Given the description of an element on the screen output the (x, y) to click on. 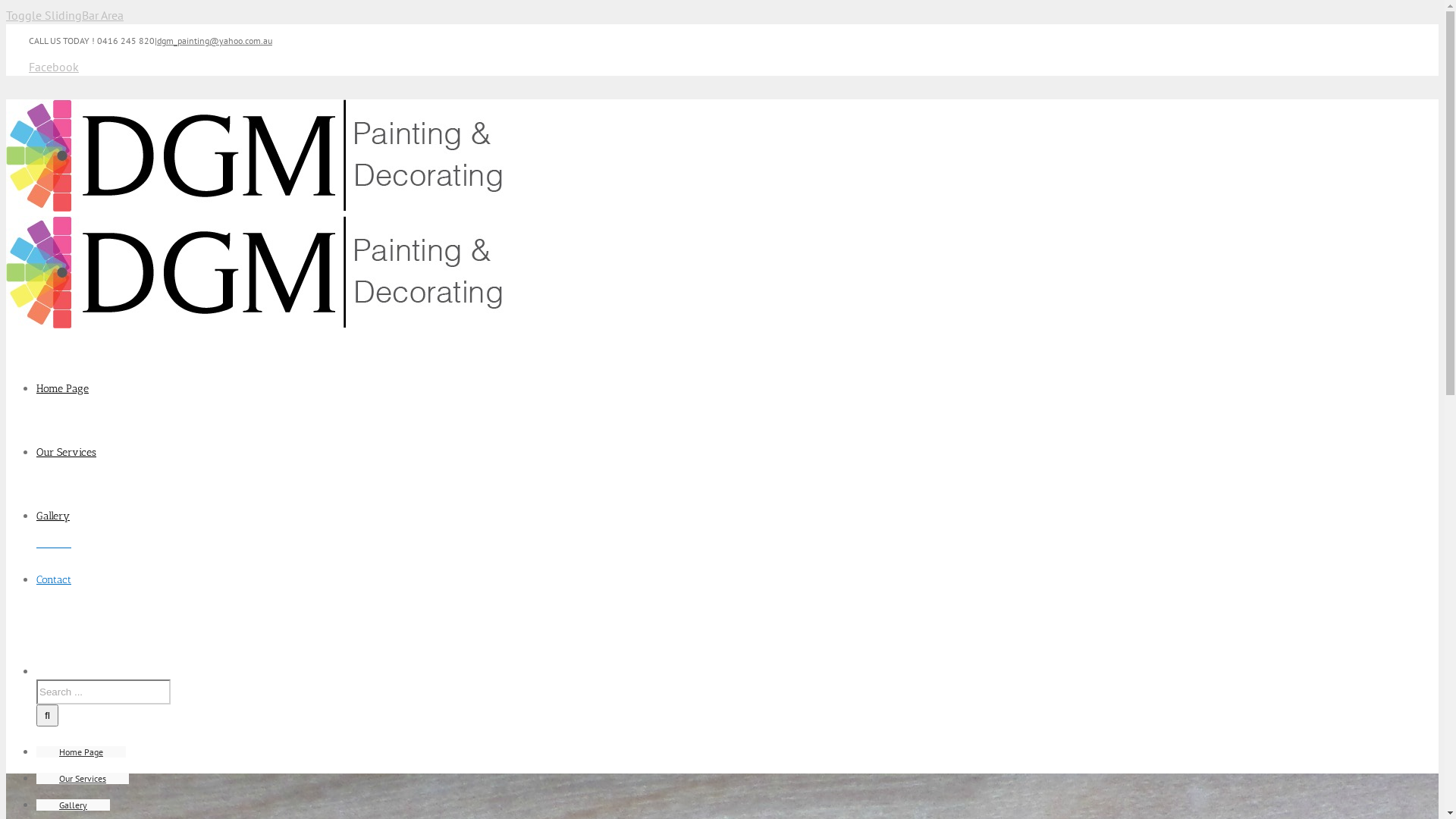
Our Services Element type: text (82, 778)
Gallery Element type: text (52, 515)
dgm_painting@yahoo.com.au Element type: text (214, 40)
Contact Element type: text (53, 579)
Home Page Element type: text (80, 751)
Toggle SlidingBar Area Element type: text (64, 14)
Home Page Element type: text (62, 388)
Facebook Element type: text (53, 66)
Gallery Element type: text (72, 804)
Our Services Element type: text (66, 451)
